Given the description of an element on the screen output the (x, y) to click on. 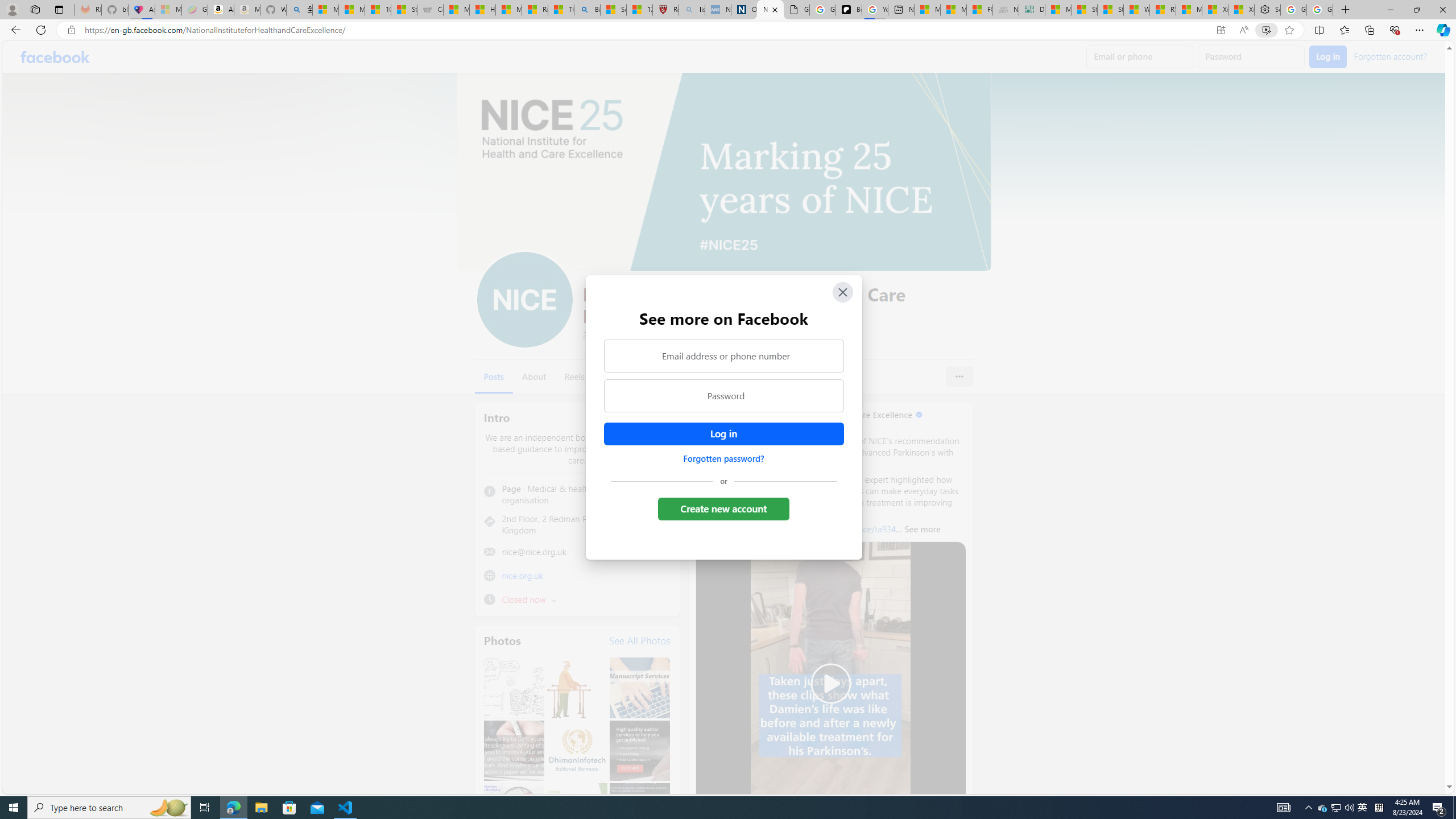
Facebook (55, 56)
How I Got Rid of Microsoft Edge's Unnecessary Features (482, 9)
Robert H. Shmerling, MD - Harvard Health (665, 9)
R******* | Trusted Community Engagement and Contributions (1162, 9)
FOX News - MSN (979, 9)
